Given the description of an element on the screen output the (x, y) to click on. 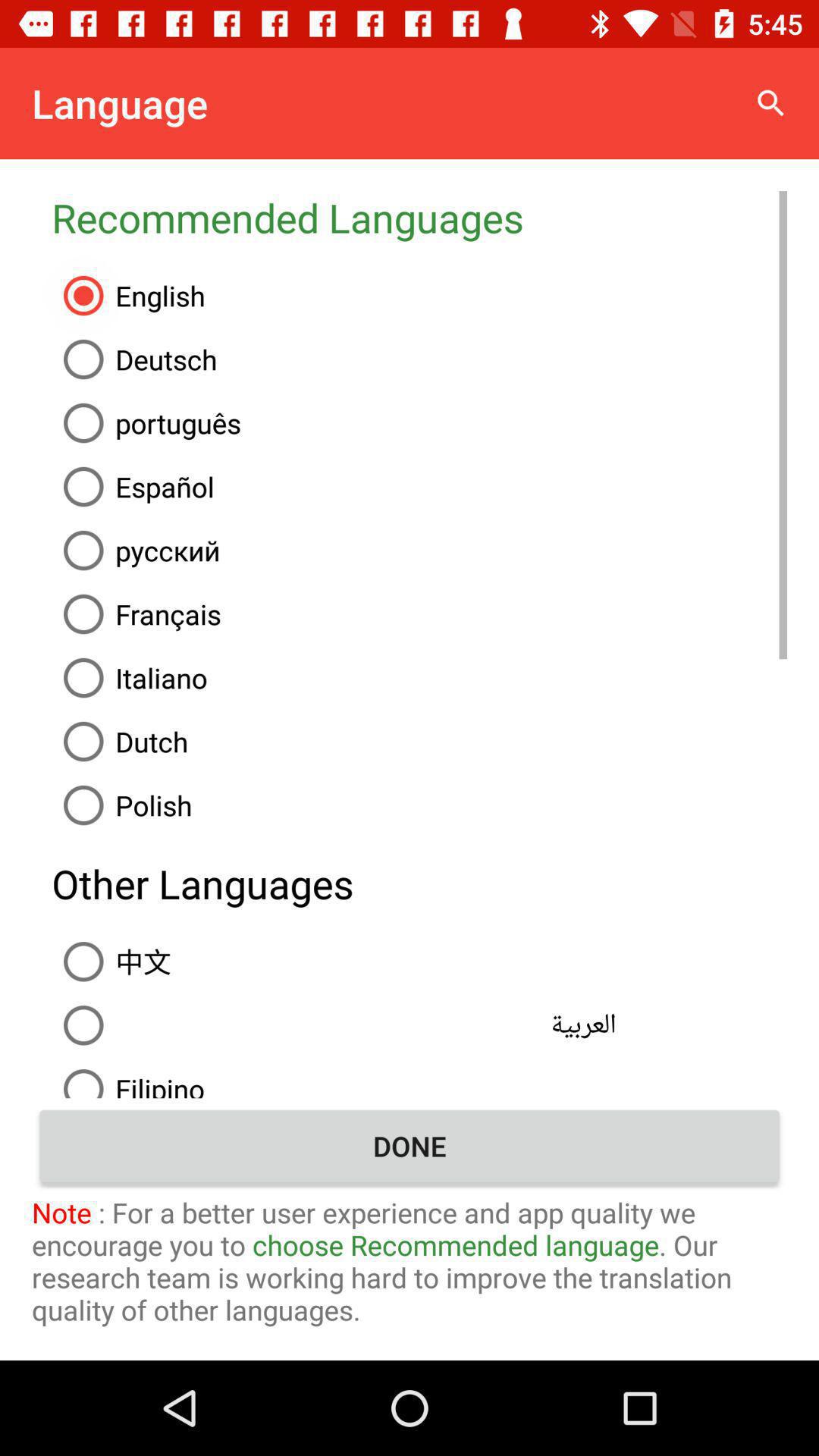
launch the polish (419, 805)
